Given the description of an element on the screen output the (x, y) to click on. 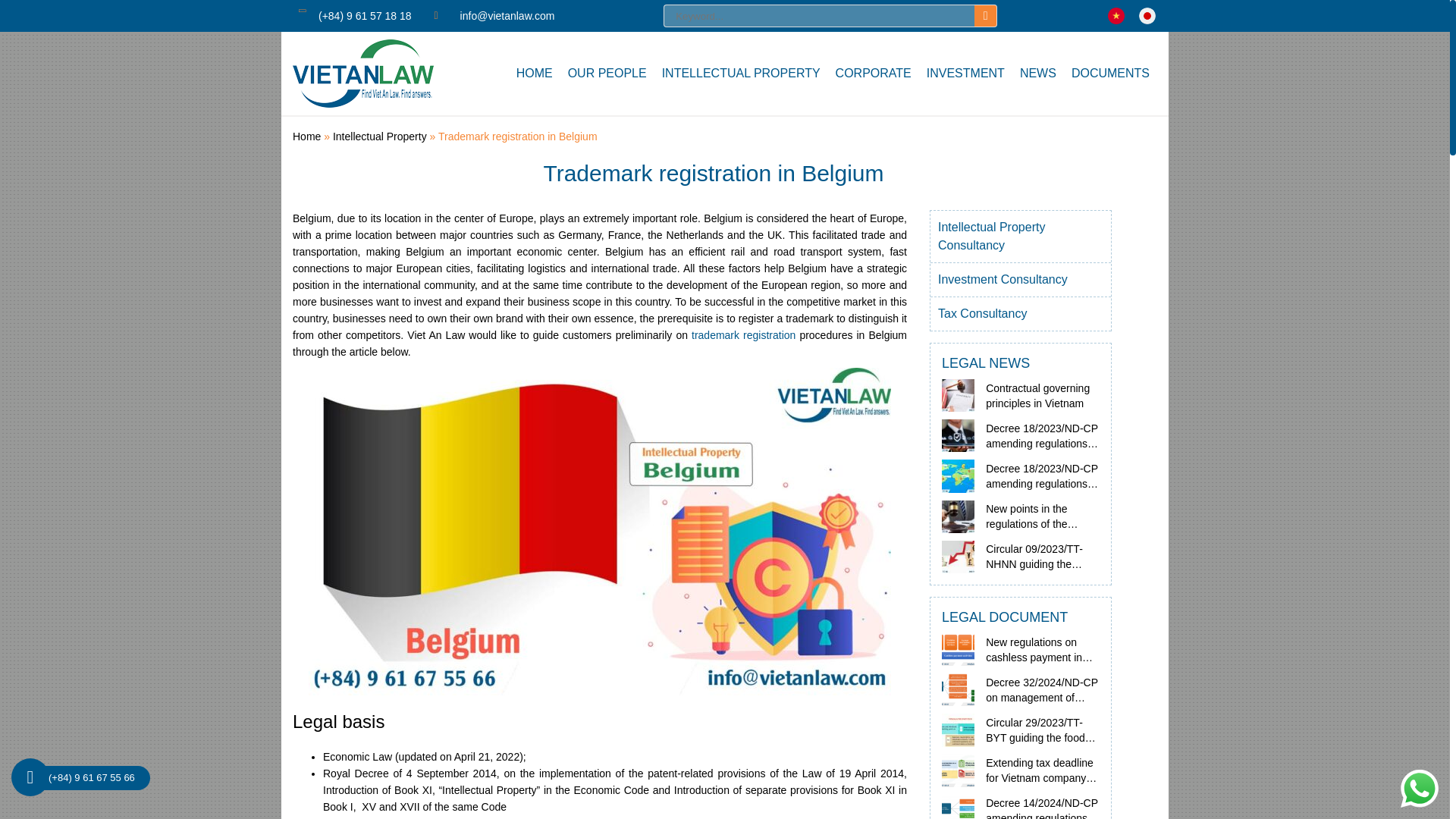
HOME (534, 72)
OUR PEOPLE (606, 72)
Home (306, 136)
INVESTMENT (964, 72)
trademark registration (742, 335)
CORPORATE (873, 72)
Viet An Law Japan (1147, 15)
Intellectual Property (379, 136)
Viet An Law Japan (1147, 15)
